Given the description of an element on the screen output the (x, y) to click on. 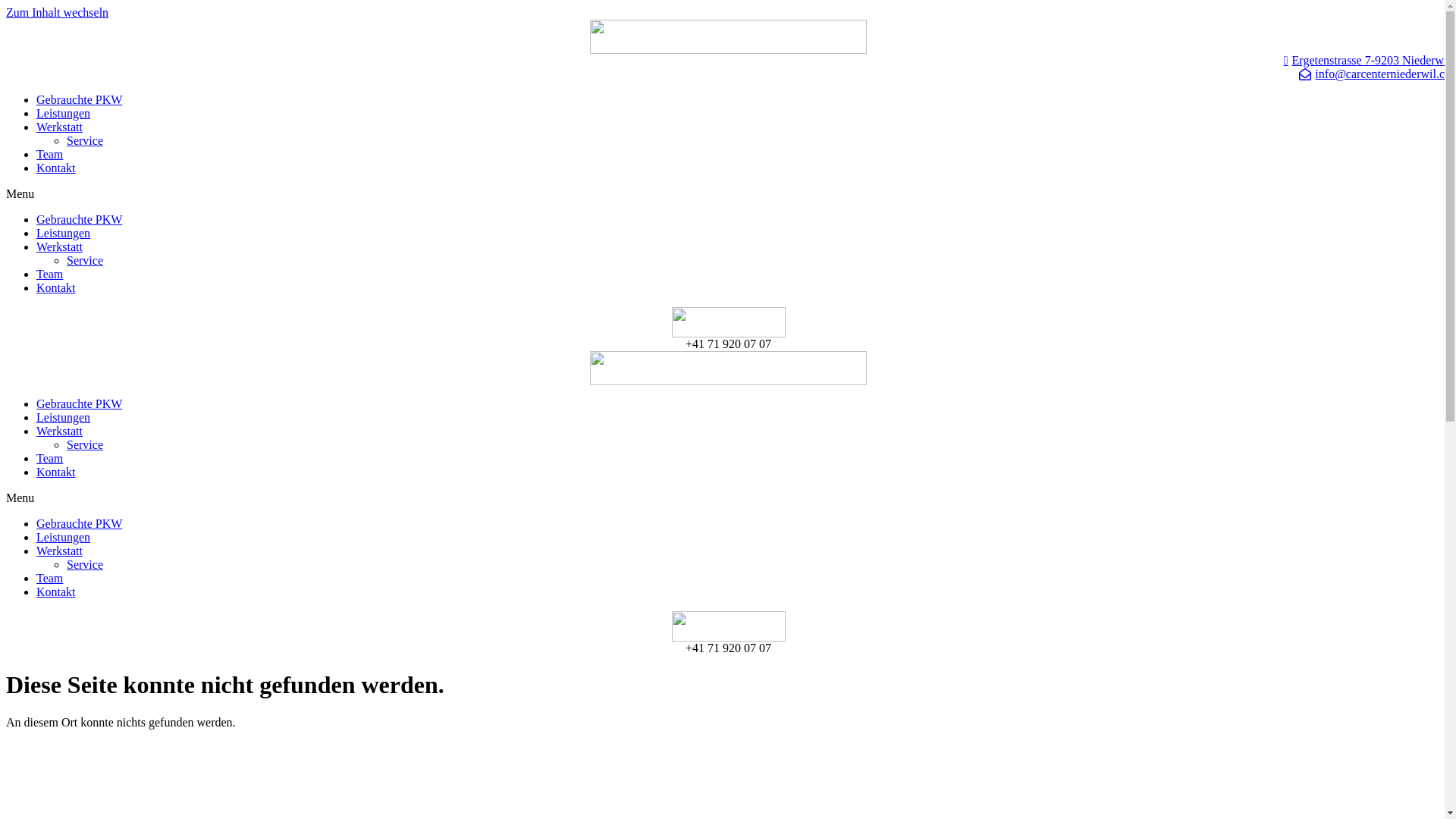
Service Element type: text (84, 444)
Gebrauchte PKW Element type: text (79, 99)
Leistungen Element type: text (63, 112)
Team Element type: text (49, 273)
Team Element type: text (49, 153)
Service Element type: text (84, 140)
Team Element type: text (49, 457)
info@carcenterniederwil.ch Element type: text (728, 74)
Kontakt Element type: text (55, 471)
Gebrauchte PKW Element type: text (79, 523)
Gebrauchte PKW Element type: text (79, 403)
Kontakt Element type: text (55, 167)
Team Element type: text (49, 577)
Gebrauchte PKW Element type: text (79, 219)
Leistungen Element type: text (63, 232)
Leistungen Element type: text (63, 417)
Werkstatt Element type: text (59, 550)
Service Element type: text (84, 564)
Ergetenstrasse 7-9203 Niederwil Element type: text (728, 60)
Werkstatt Element type: text (59, 246)
Werkstatt Element type: text (59, 126)
Kontakt Element type: text (55, 287)
Zum Inhalt wechseln Element type: text (57, 12)
Leistungen Element type: text (63, 536)
Service Element type: text (84, 260)
Werkstatt Element type: text (59, 430)
Kontakt Element type: text (55, 591)
